Given the description of an element on the screen output the (x, y) to click on. 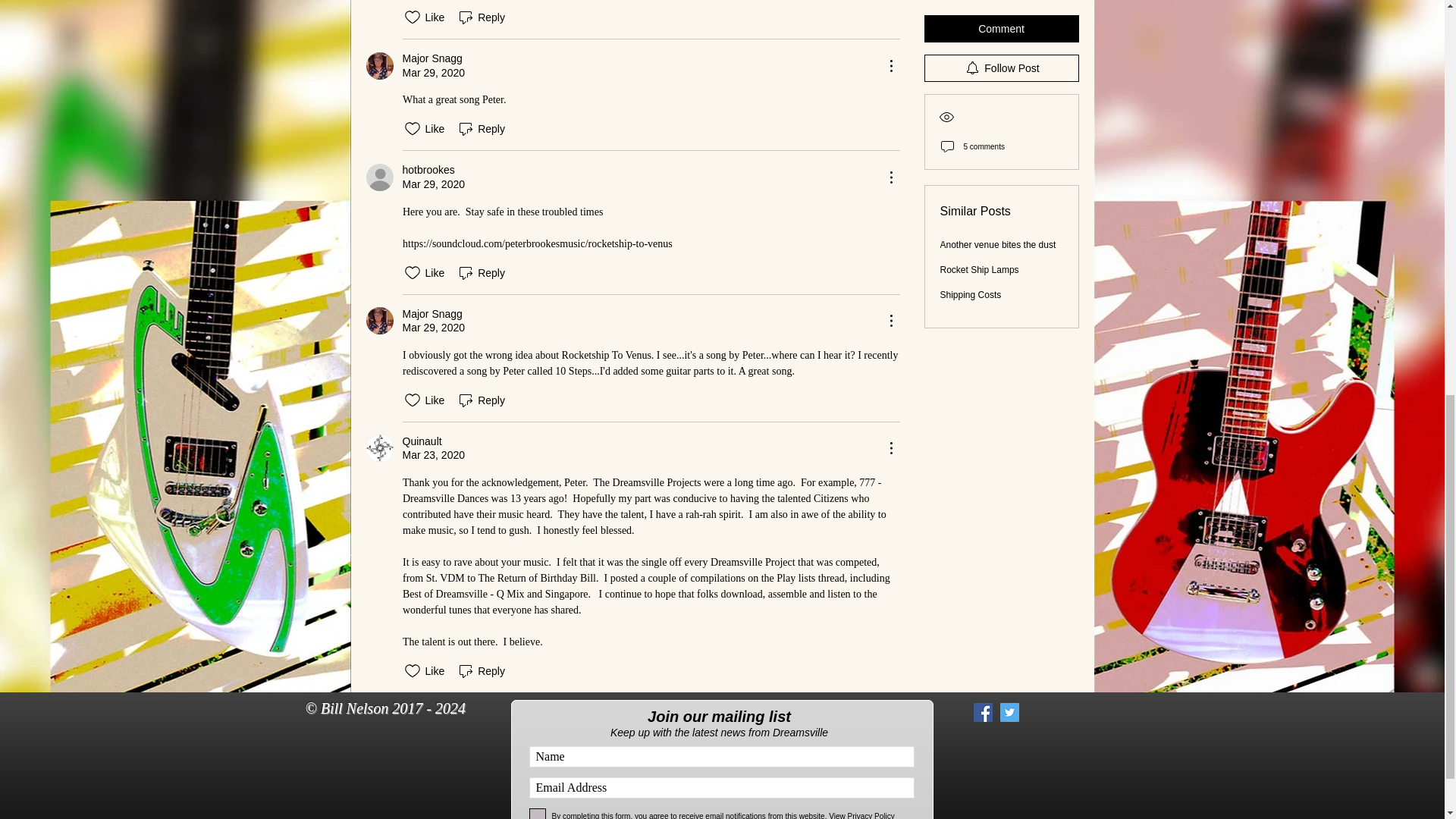
Major Snagg (431, 58)
Major Snagg (379, 65)
Reply (481, 272)
Quinault (379, 447)
Major Snagg (431, 314)
Reply (481, 128)
hotbrookes (427, 169)
Major Snagg (379, 320)
Reply (481, 17)
